Given the description of an element on the screen output the (x, y) to click on. 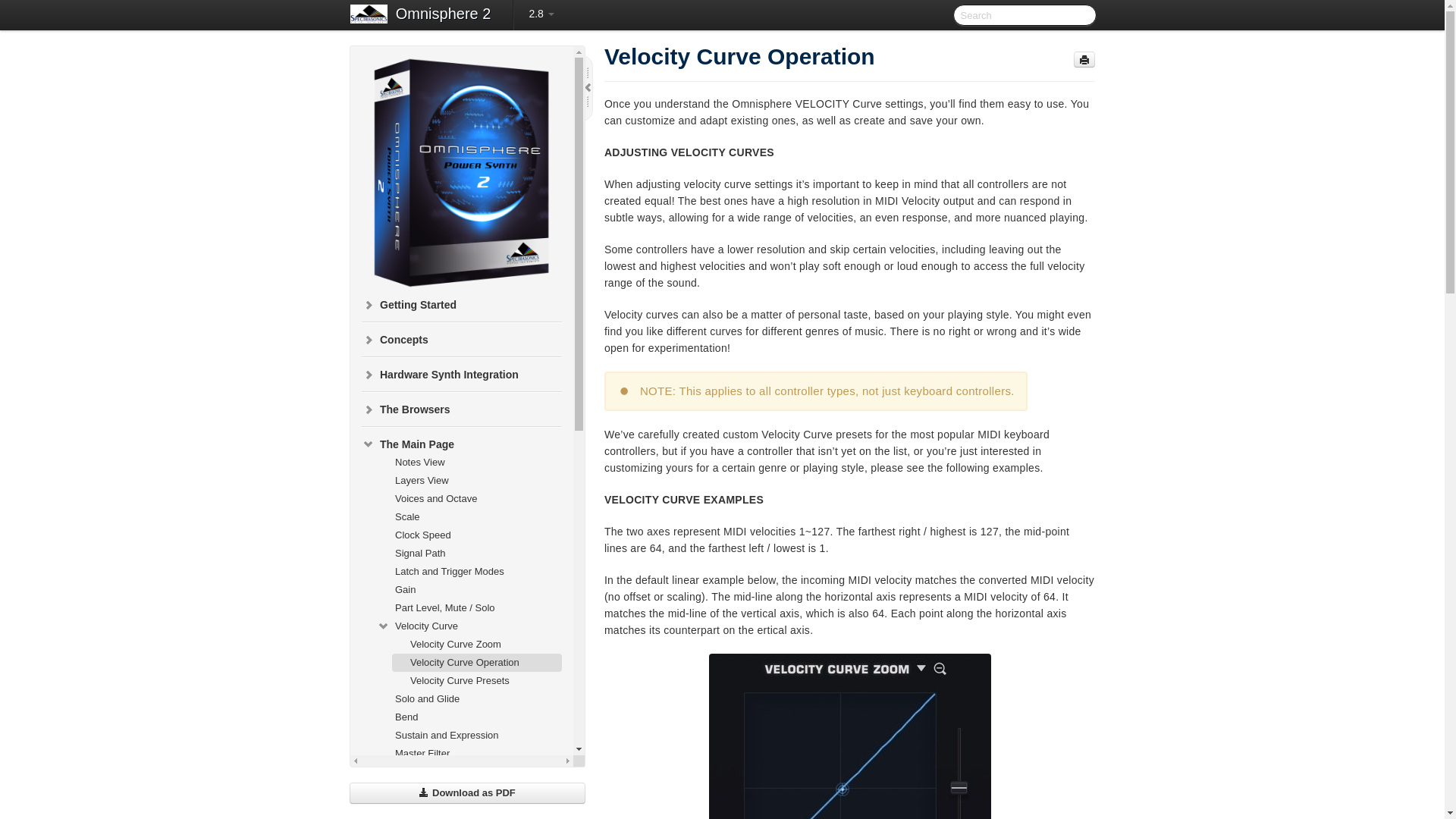
Omnisphere 2 (443, 15)
Print page (1084, 59)
2.8 (540, 14)
